Given the description of an element on the screen output the (x, y) to click on. 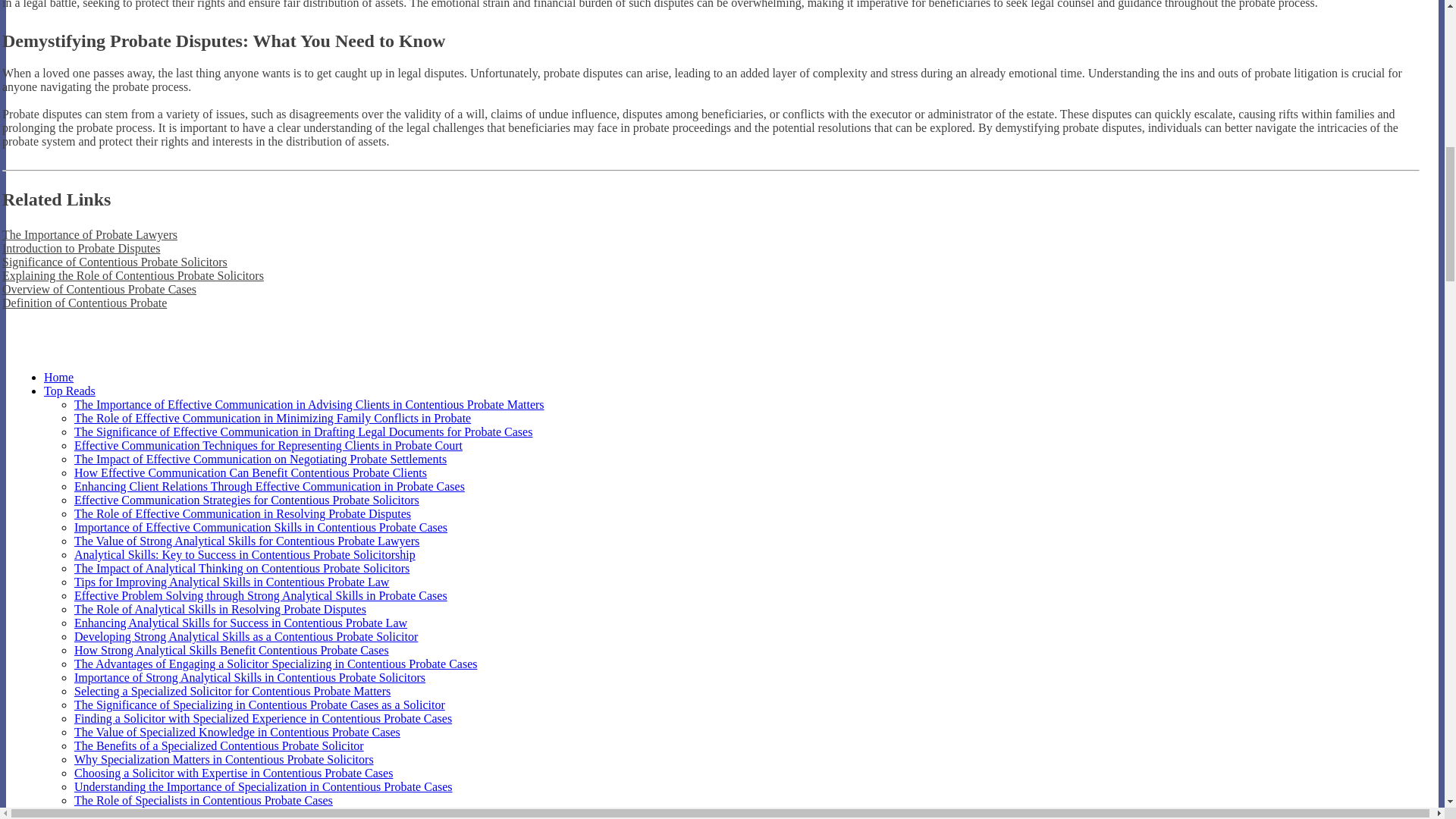
Top Reads (69, 390)
The Importance of Probate Lawyers (89, 234)
Introduction to Probate Disputes (81, 247)
Definition of Contentious Probate (84, 302)
